Given the description of an element on the screen output the (x, y) to click on. 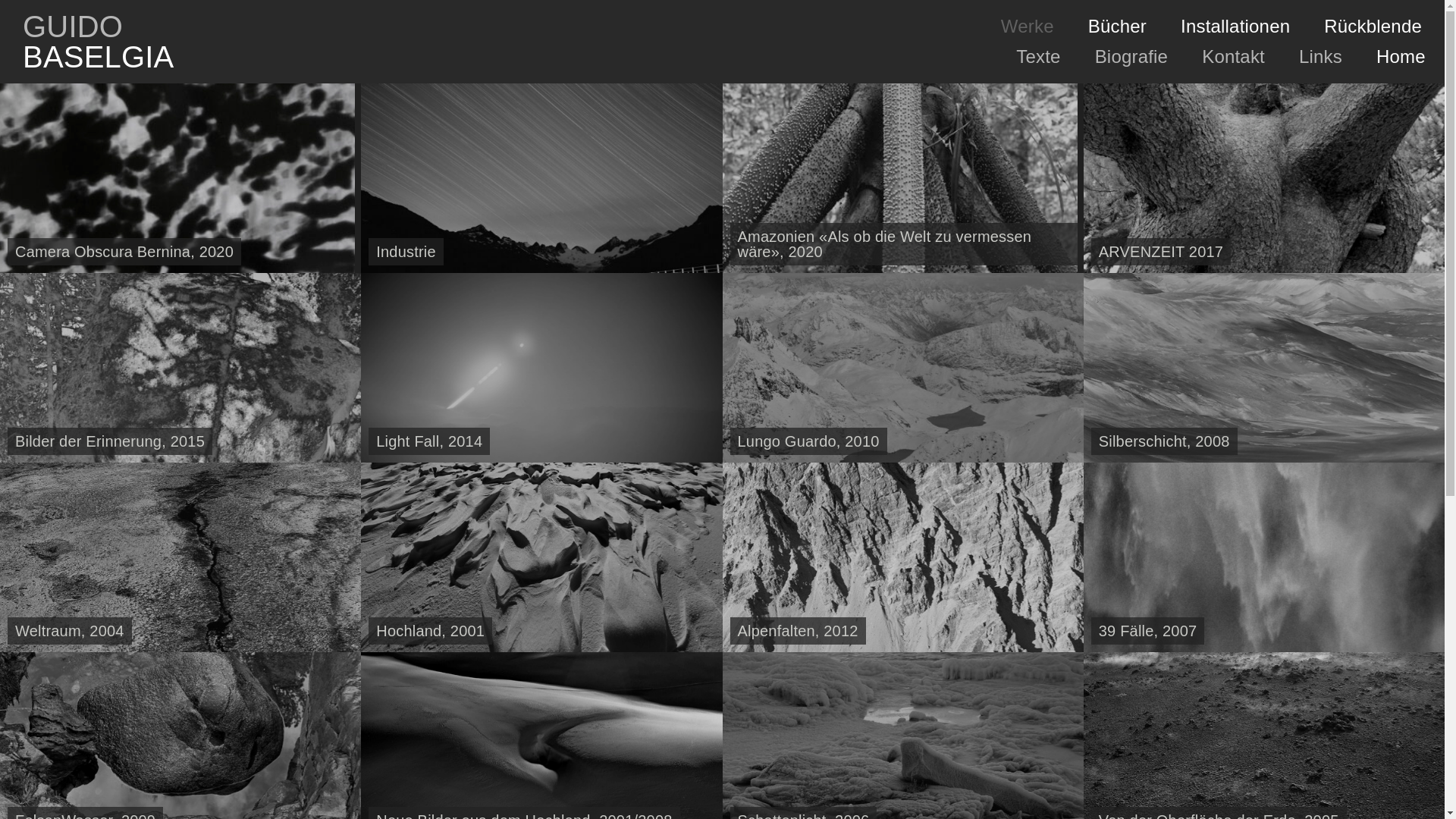
Bilder der Erinnerung, 2015 Element type: text (180, 367)
Industrie Element type: text (540, 178)
GUIDO BASELGIA Element type: text (91, 41)
Texte Element type: text (1037, 56)
Kontakt Element type: text (1233, 56)
Installationen Element type: text (1235, 26)
Weltraum, 2004 Element type: text (180, 557)
ARVENZEIT 2017 Element type: text (1263, 178)
Biografie Element type: text (1131, 56)
Alpenfalten, 2012 Element type: text (901, 557)
Camera Obscura Bernina, 2020 Element type: text (177, 178)
Lungo Guardo, 2010 Element type: text (901, 367)
Hochland, 2001 Element type: text (540, 557)
Home Element type: text (1399, 56)
Werke Element type: text (1027, 26)
Silberschicht, 2008 Element type: text (1263, 367)
Light Fall, 2014 Element type: text (540, 367)
Links Element type: text (1320, 56)
